Given the description of an element on the screen output the (x, y) to click on. 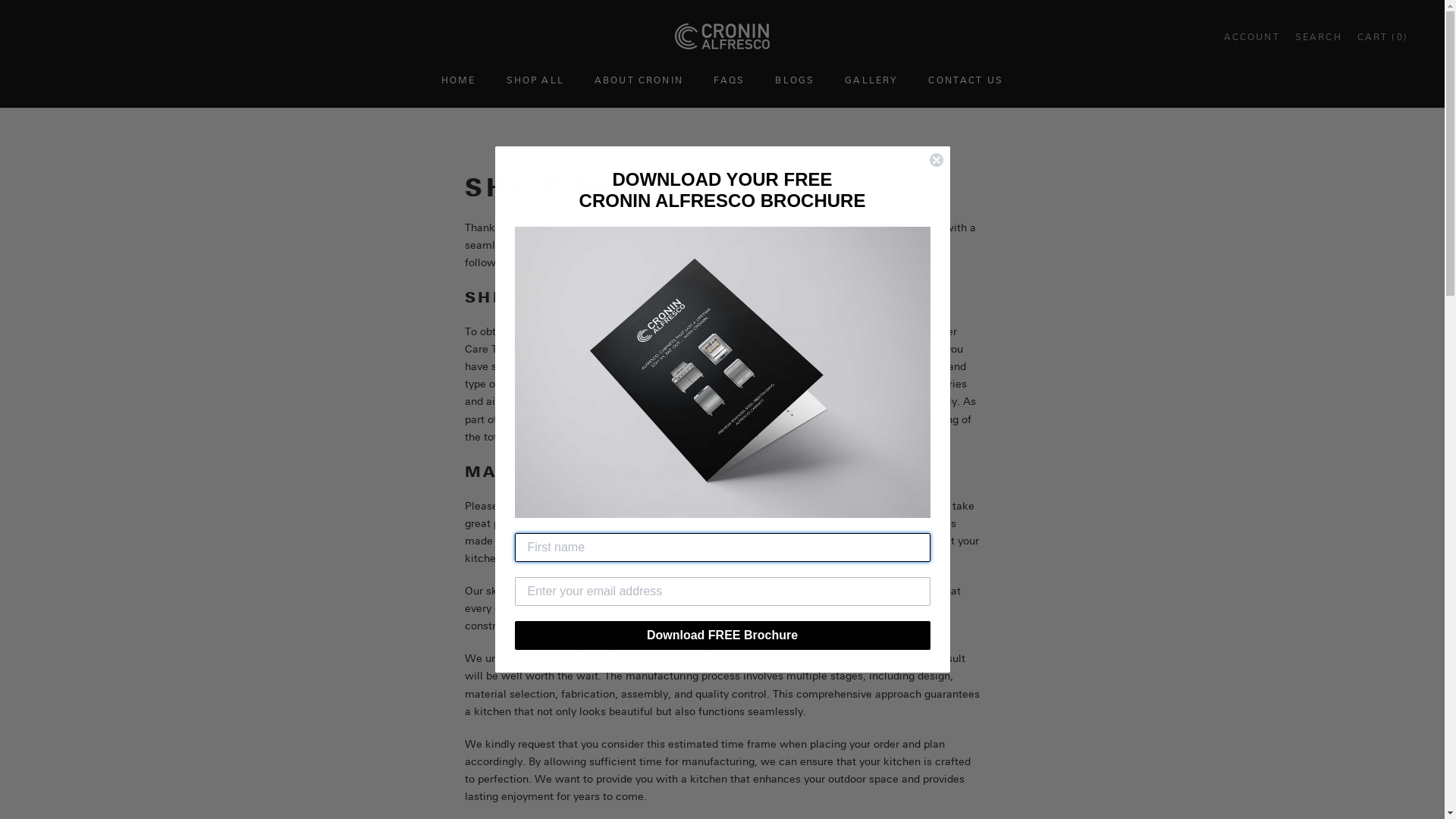
FAQS Element type: text (729, 80)
Open search
SEARCH Element type: text (1318, 36)
BLOGS Element type: text (794, 80)
Download FREE Brochure Element type: text (721, 635)
Open account page
ACCOUNT Element type: text (1251, 36)
HOME Element type: text (458, 80)
CONTACT US Element type: text (965, 80)
Cronin Alfresco Element type: text (721, 36)
Open cart
CART (0) Element type: text (1382, 36)
Close dialog 1 Element type: text (935, 159)
Submit Element type: text (20, 7)
GALLERY Element type: text (870, 80)
